Given the description of an element on the screen output the (x, y) to click on. 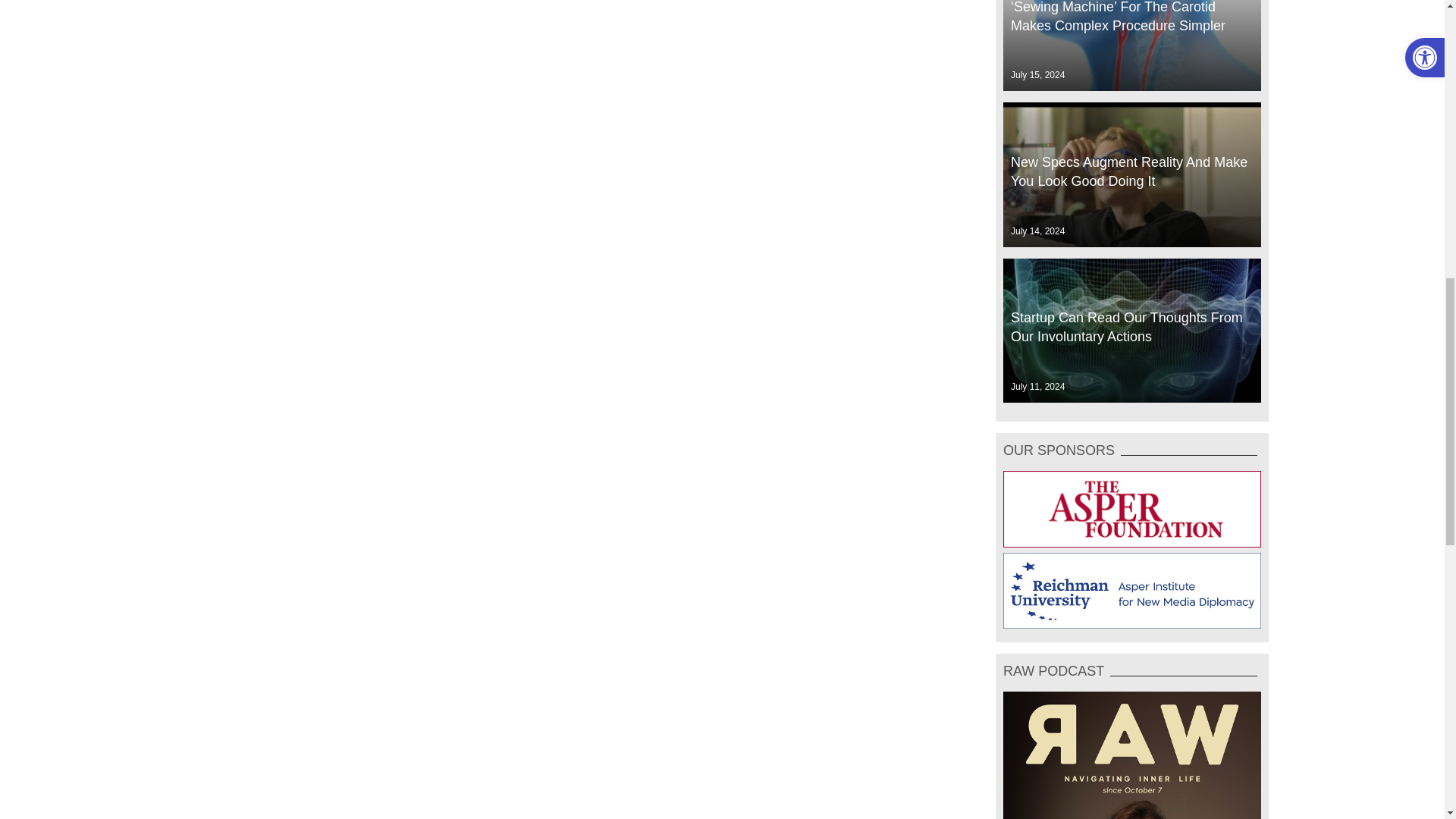
Startup Can Read Our Thoughts From Our Involuntary Actions (1131, 330)
New Specs Augment Reality And Make You Look Good Doing It (1131, 174)
